Given the description of an element on the screen output the (x, y) to click on. 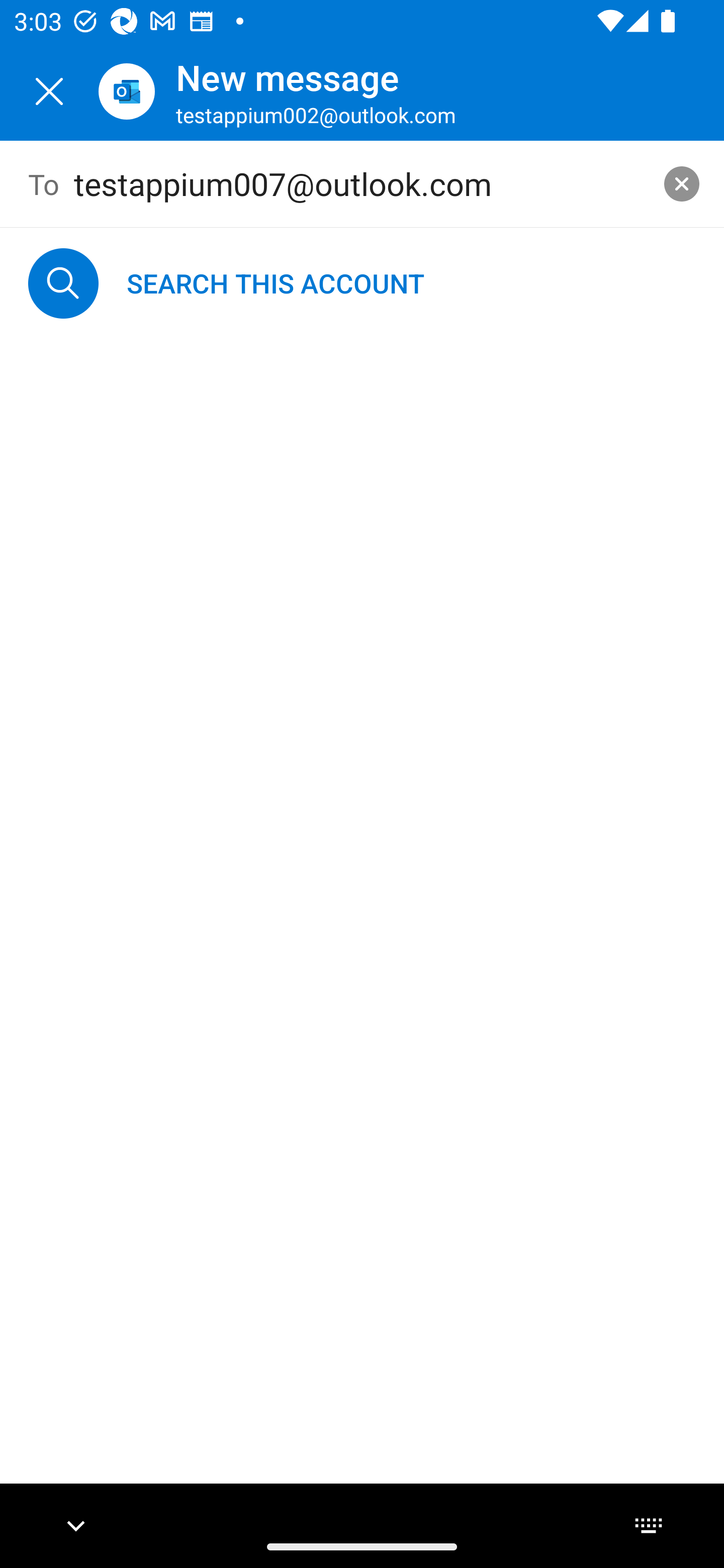
Close (49, 91)
testappium007@outlook.com (362, 184)
clear search (681, 183)
